Given the description of an element on the screen output the (x, y) to click on. 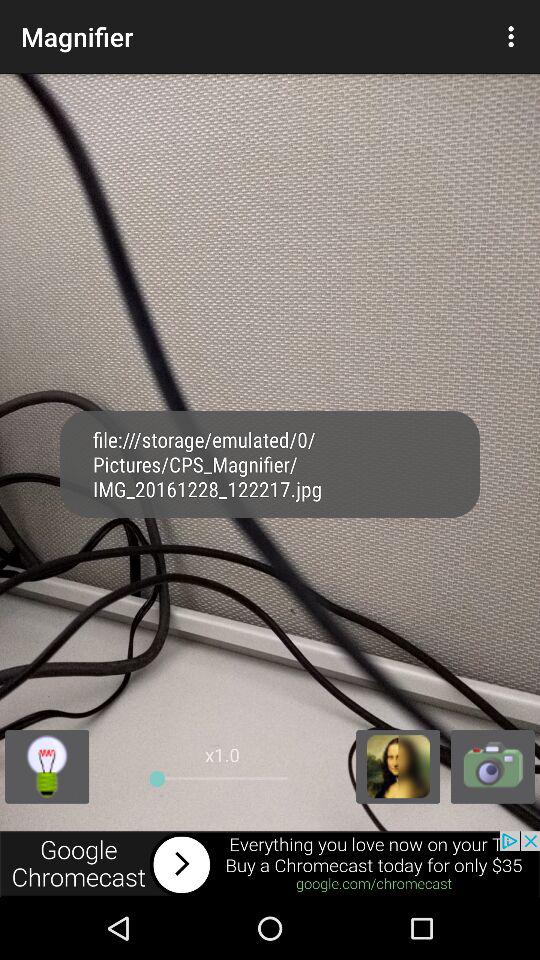
click the camera (492, 766)
